Given the description of an element on the screen output the (x, y) to click on. 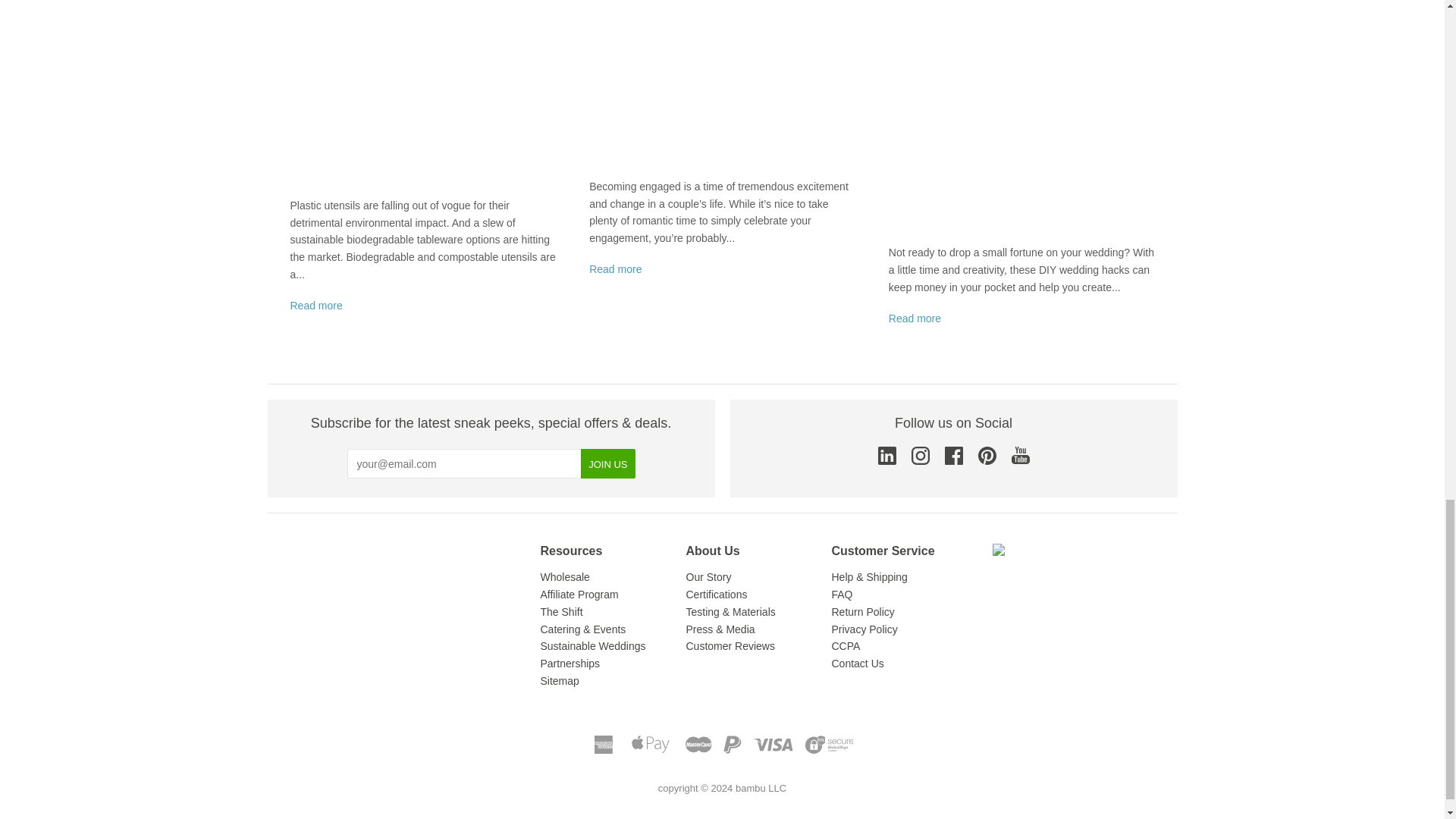
JOIN US (607, 463)
